Given the description of an element on the screen output the (x, y) to click on. 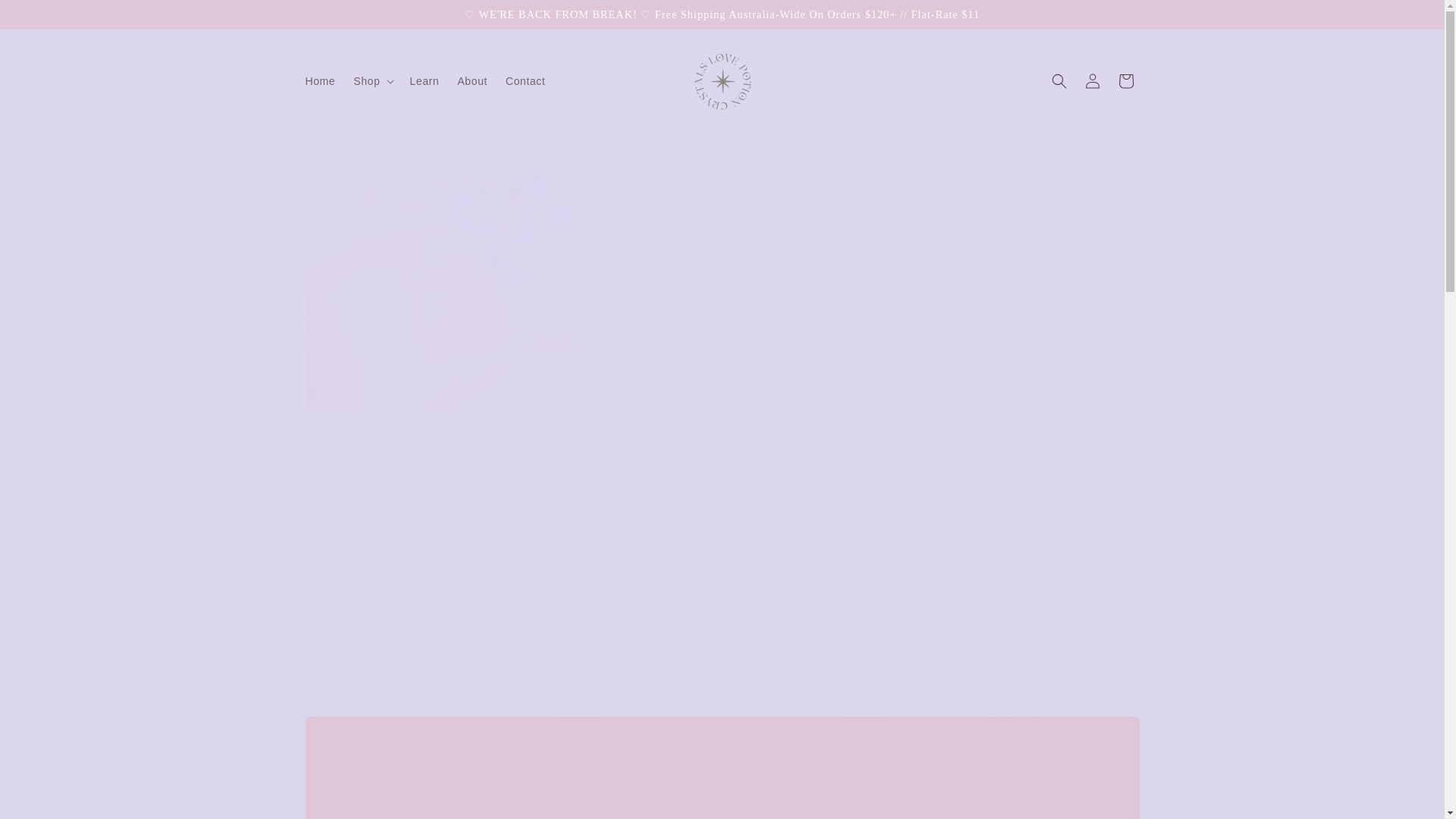
Skip to content (45, 17)
0 (722, 600)
0 (1004, 600)
0 (438, 600)
